Given the description of an element on the screen output the (x, y) to click on. 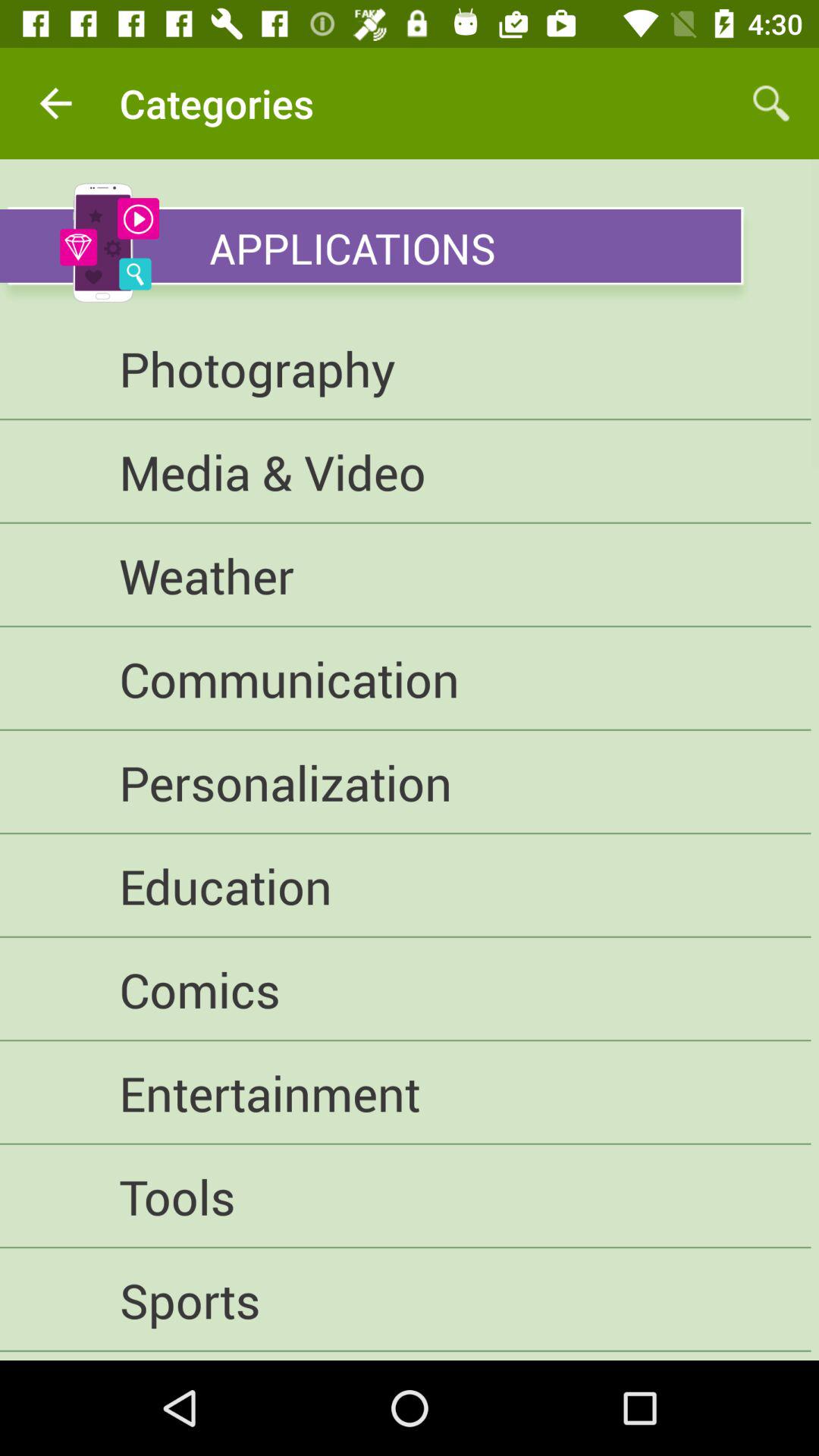
swipe until education (405, 885)
